Given the description of an element on the screen output the (x, y) to click on. 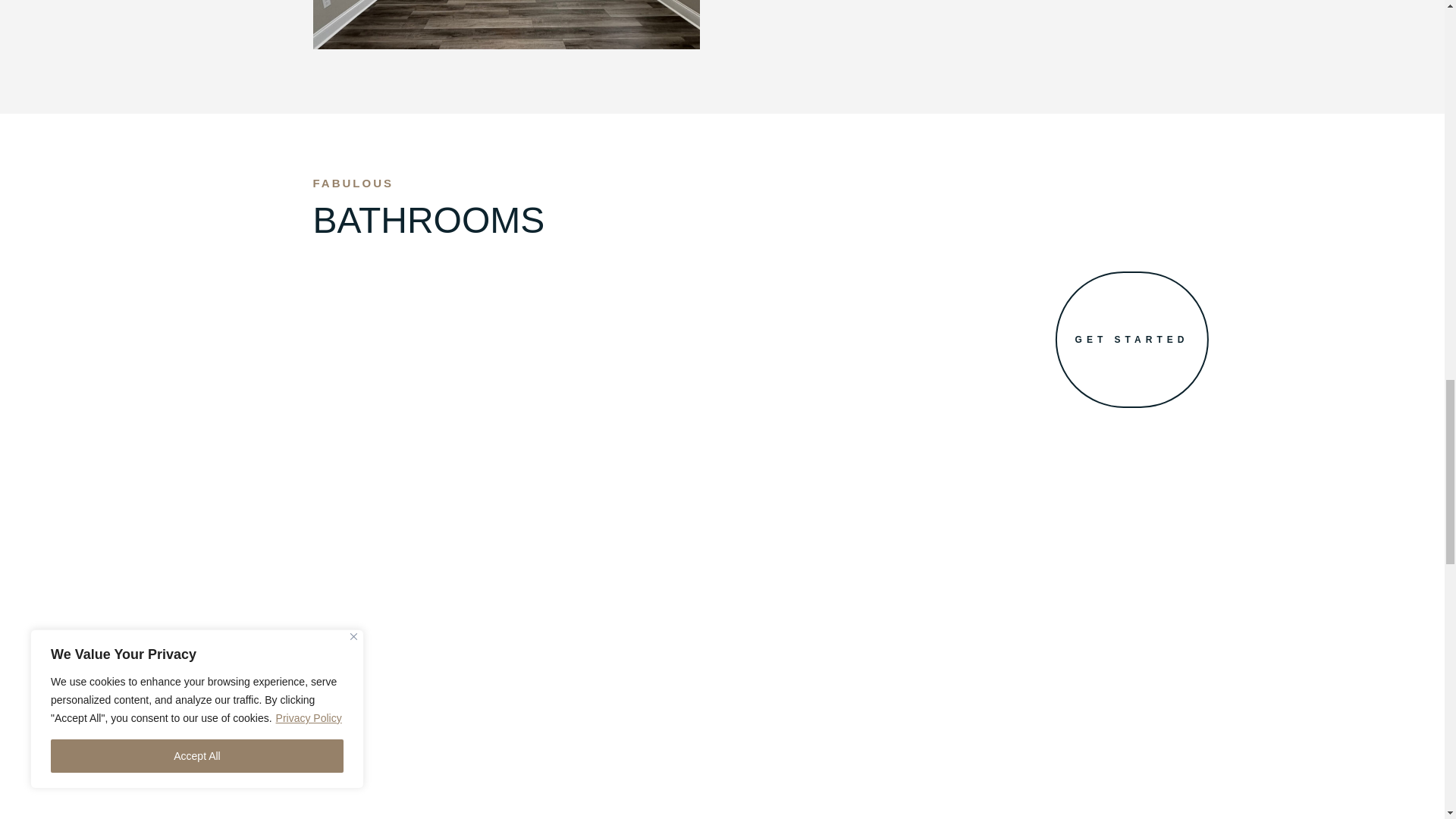
Master Bedroom (505, 24)
GET STARTED (1131, 339)
